Given the description of an element on the screen output the (x, y) to click on. 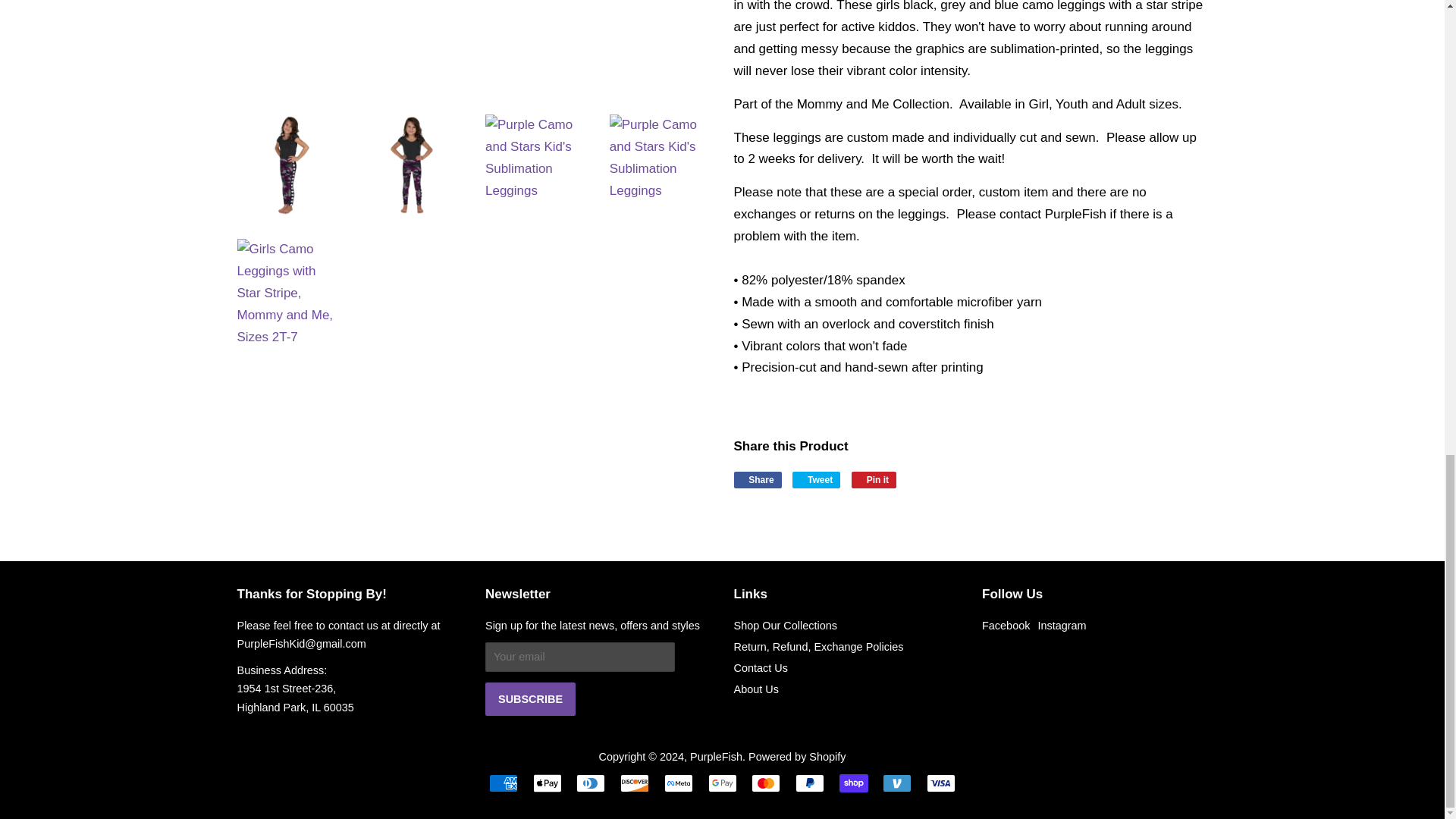
Apple Pay (547, 782)
Shop Pay (853, 782)
Subscribe (529, 698)
PurpleFish on Instagram (1061, 625)
Google Pay (721, 782)
PayPal (809, 782)
Discover (634, 782)
Pin on Pinterest (873, 479)
Visa (940, 782)
Venmo (896, 782)
